Given the description of an element on the screen output the (x, y) to click on. 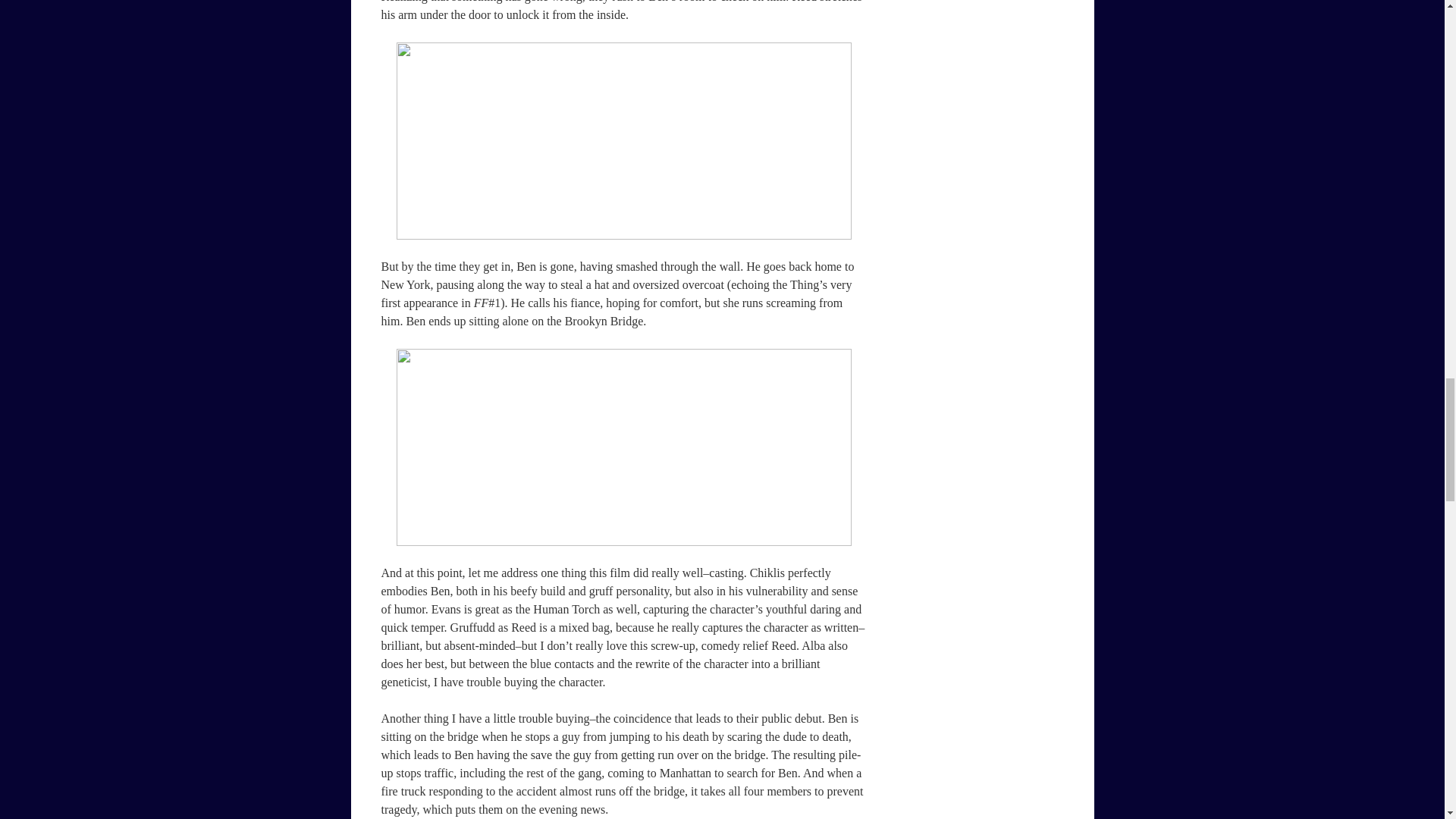
Ben Grimm makes a new friend (623, 447)
This grosses Johnny out (623, 140)
